Given the description of an element on the screen output the (x, y) to click on. 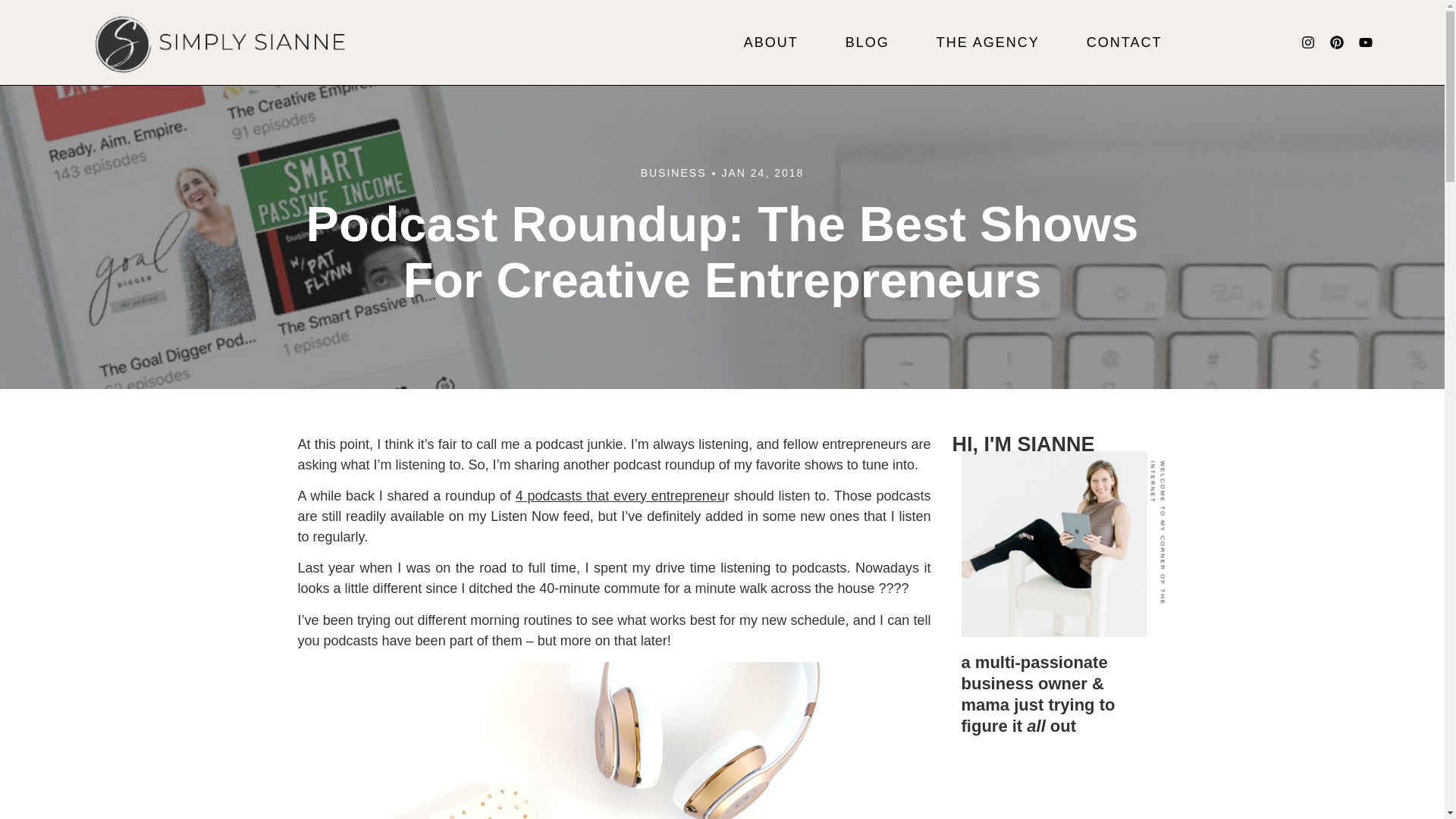
BUSINESS (673, 172)
THE AGENCY (987, 42)
CONTACT (1124, 42)
4 podcasts that every entrepreneu (620, 495)
JAN 24, 2018 (761, 172)
ABOUT (771, 42)
BLOG (867, 42)
